Given the description of an element on the screen output the (x, y) to click on. 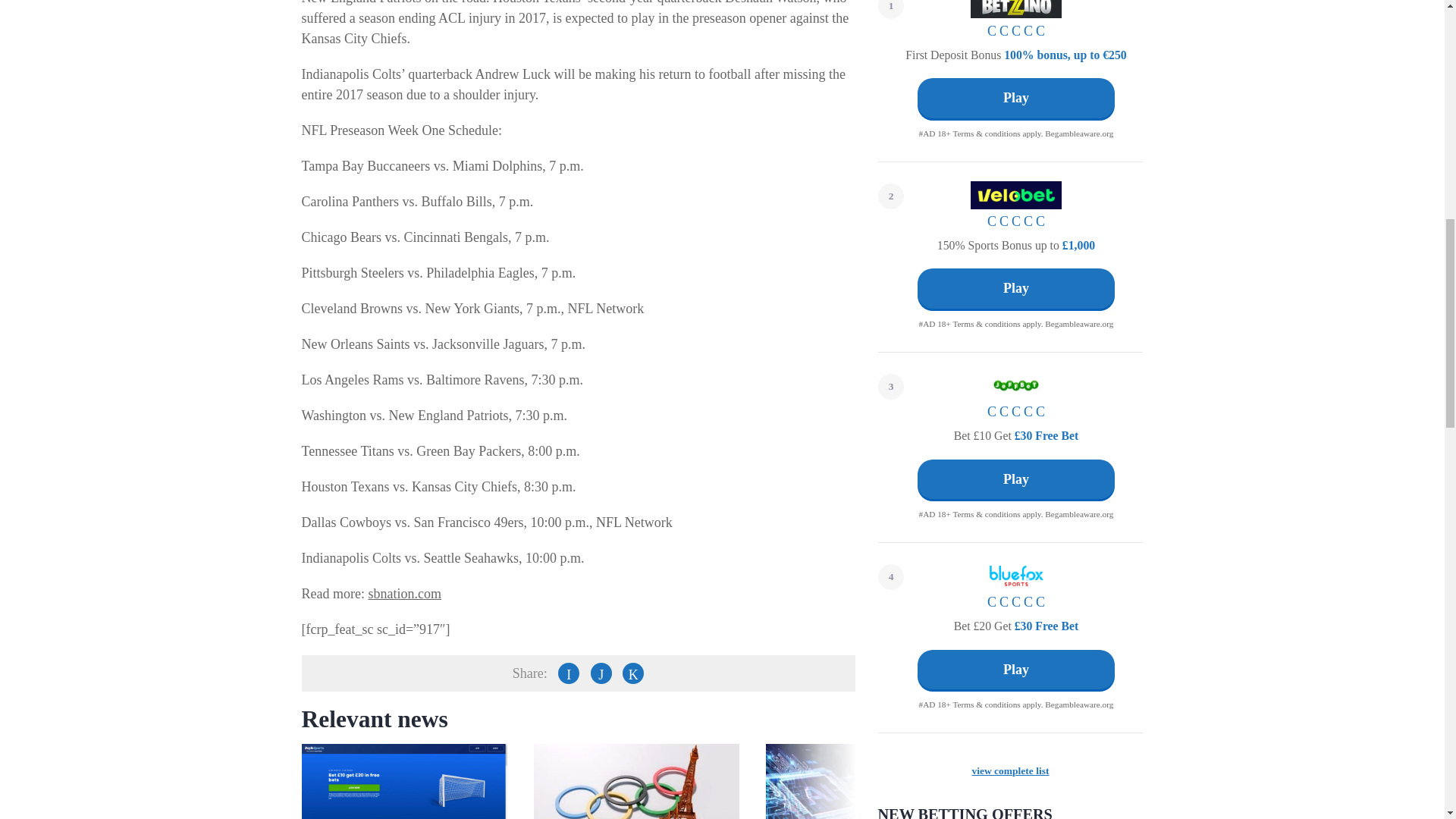
Share on Facebook (568, 672)
Share on Twitter (601, 672)
Share by email (633, 672)
